Given the description of an element on the screen output the (x, y) to click on. 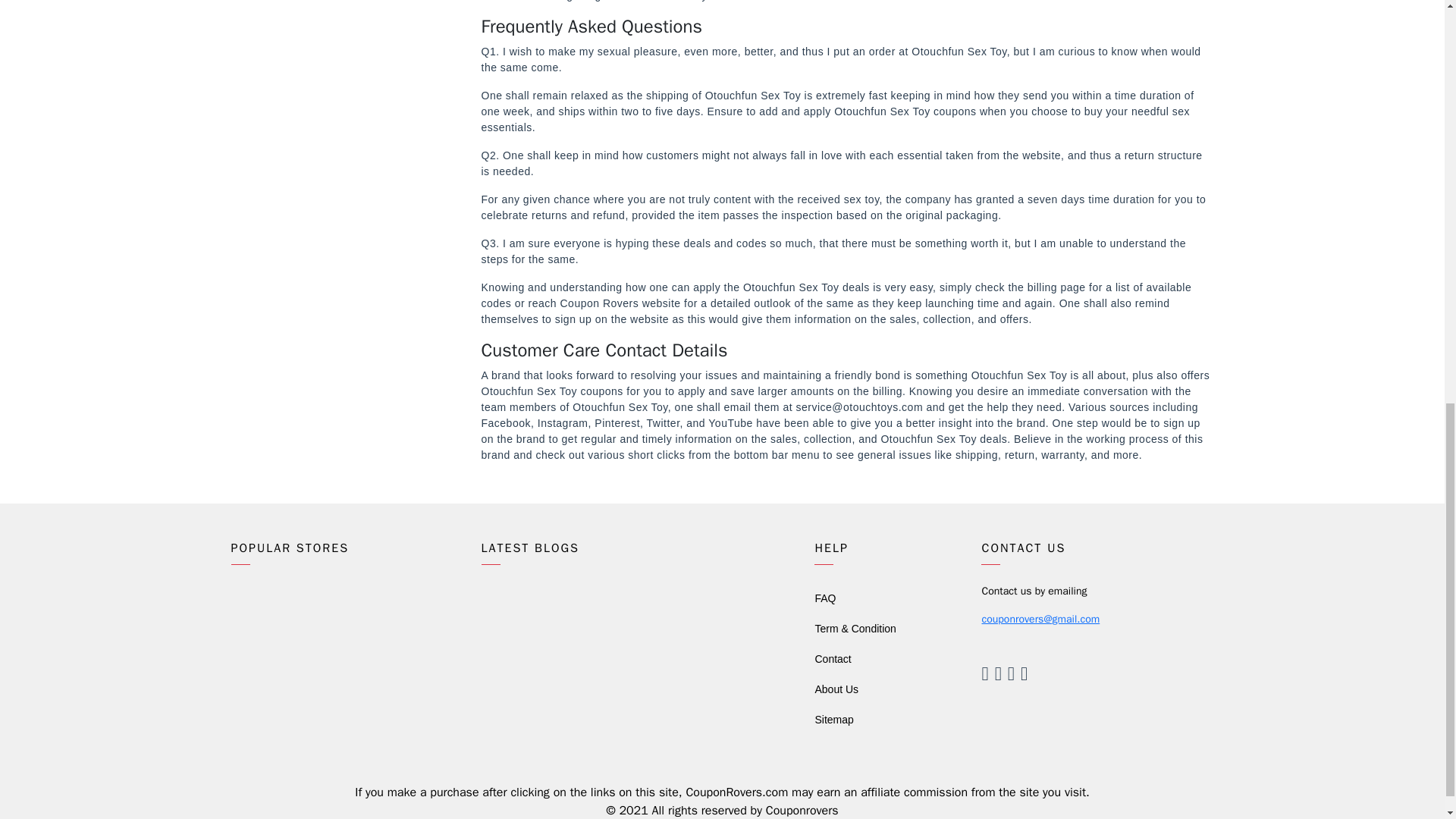
Sitemap (833, 719)
FAQ (824, 598)
Contact (831, 658)
About Us (836, 689)
